Given the description of an element on the screen output the (x, y) to click on. 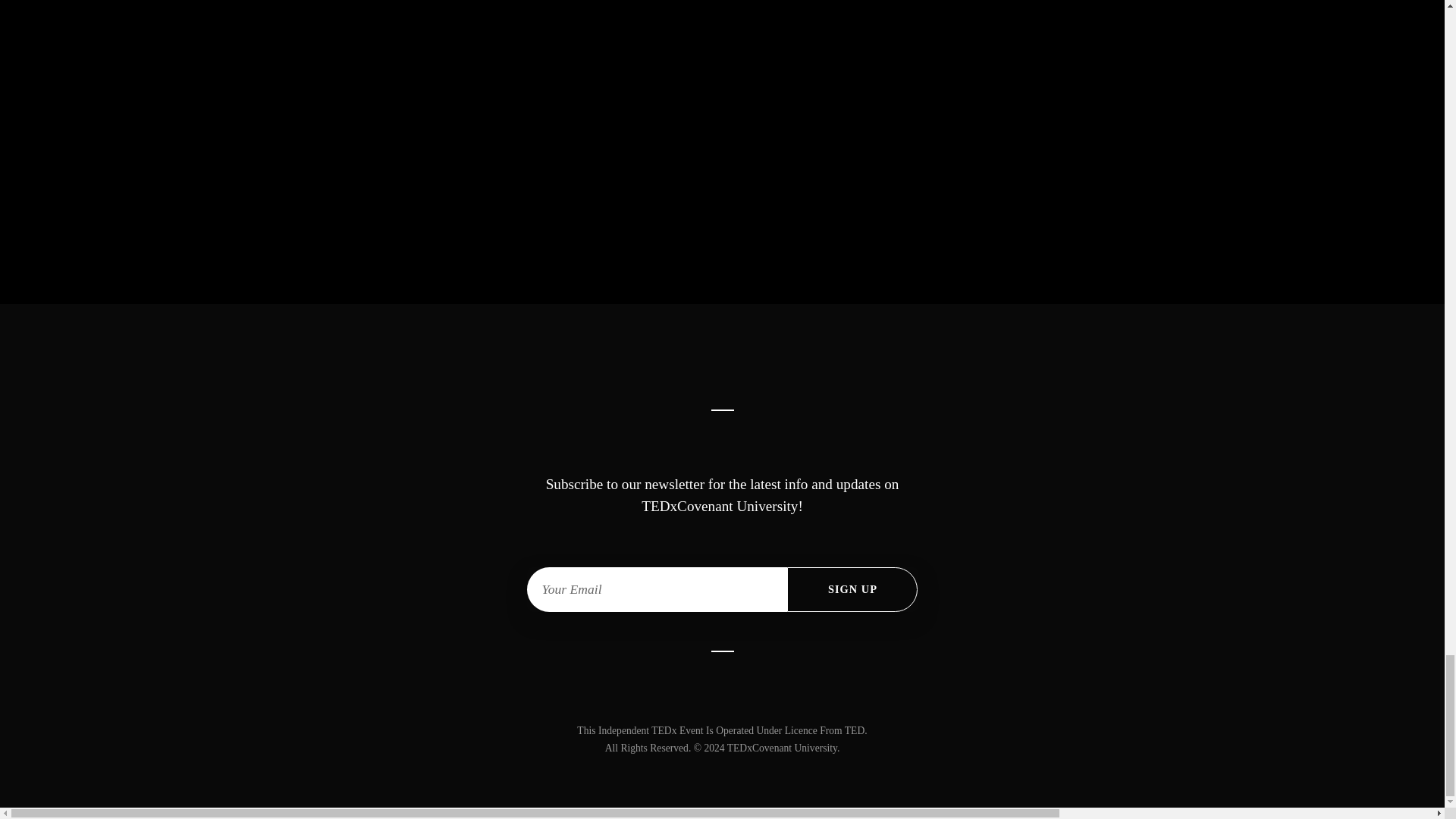
SIGN UP (852, 589)
